Given the description of an element on the screen output the (x, y) to click on. 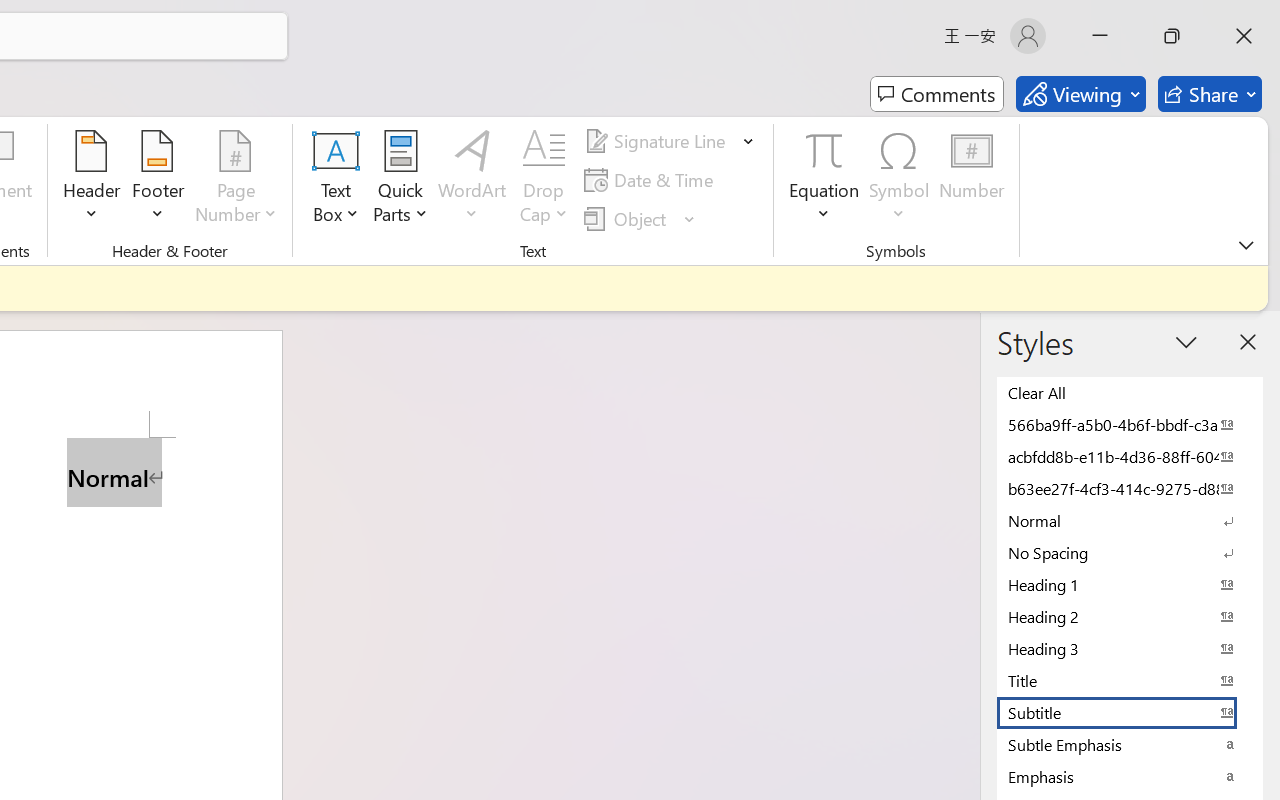
WordArt (472, 179)
Heading 3 (1130, 648)
Normal (1130, 520)
Ribbon Display Options (1246, 245)
Clear All (1130, 392)
Footer (157, 179)
Equation (823, 150)
Number... (971, 179)
Quick Parts (400, 179)
Text Box (335, 179)
Header (92, 179)
Object... (628, 218)
Subtle Emphasis (1130, 744)
